Given the description of an element on the screen output the (x, y) to click on. 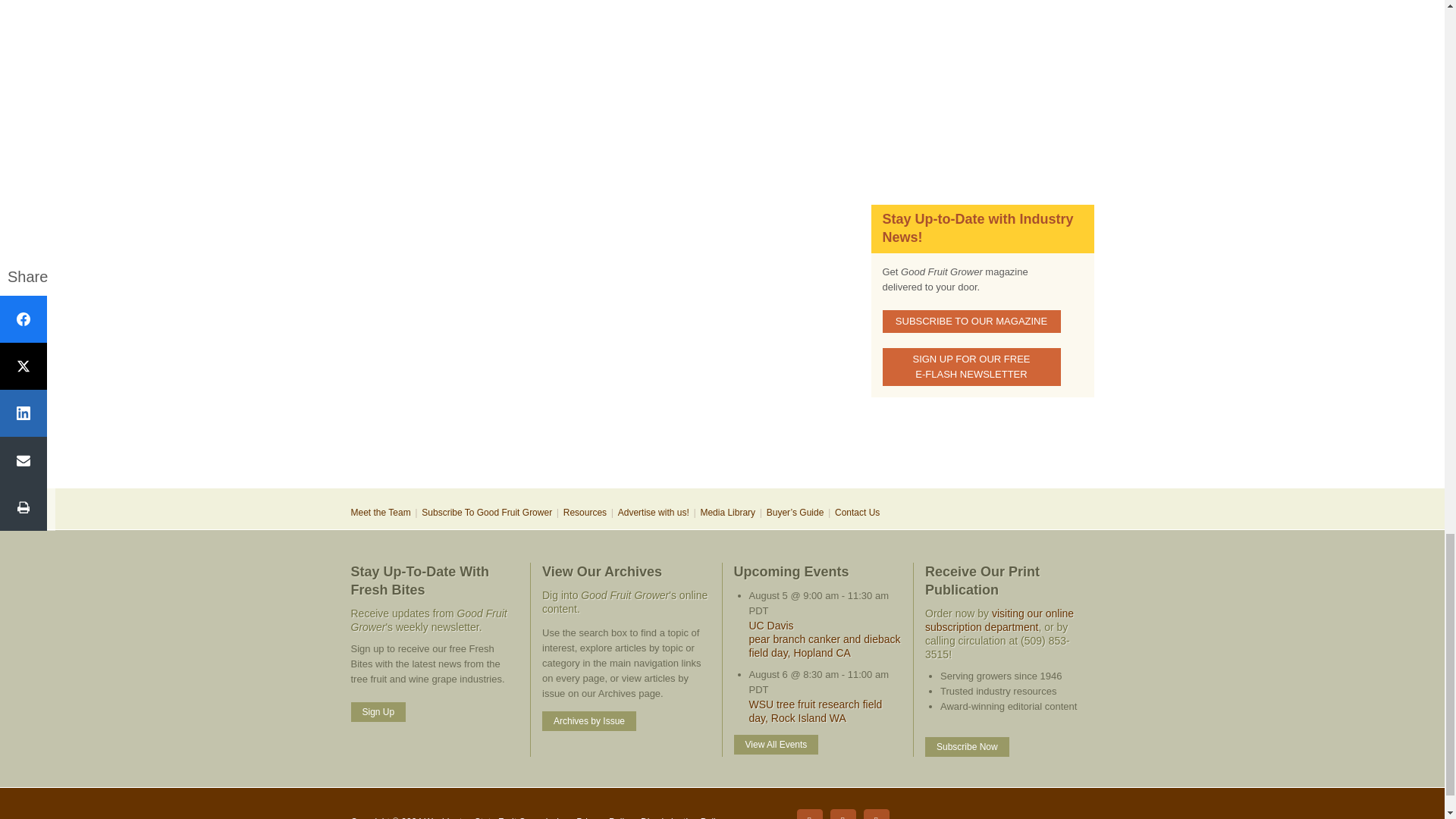
Facebook (809, 814)
LinkedIn (842, 814)
YouTube (875, 814)
